Given the description of an element on the screen output the (x, y) to click on. 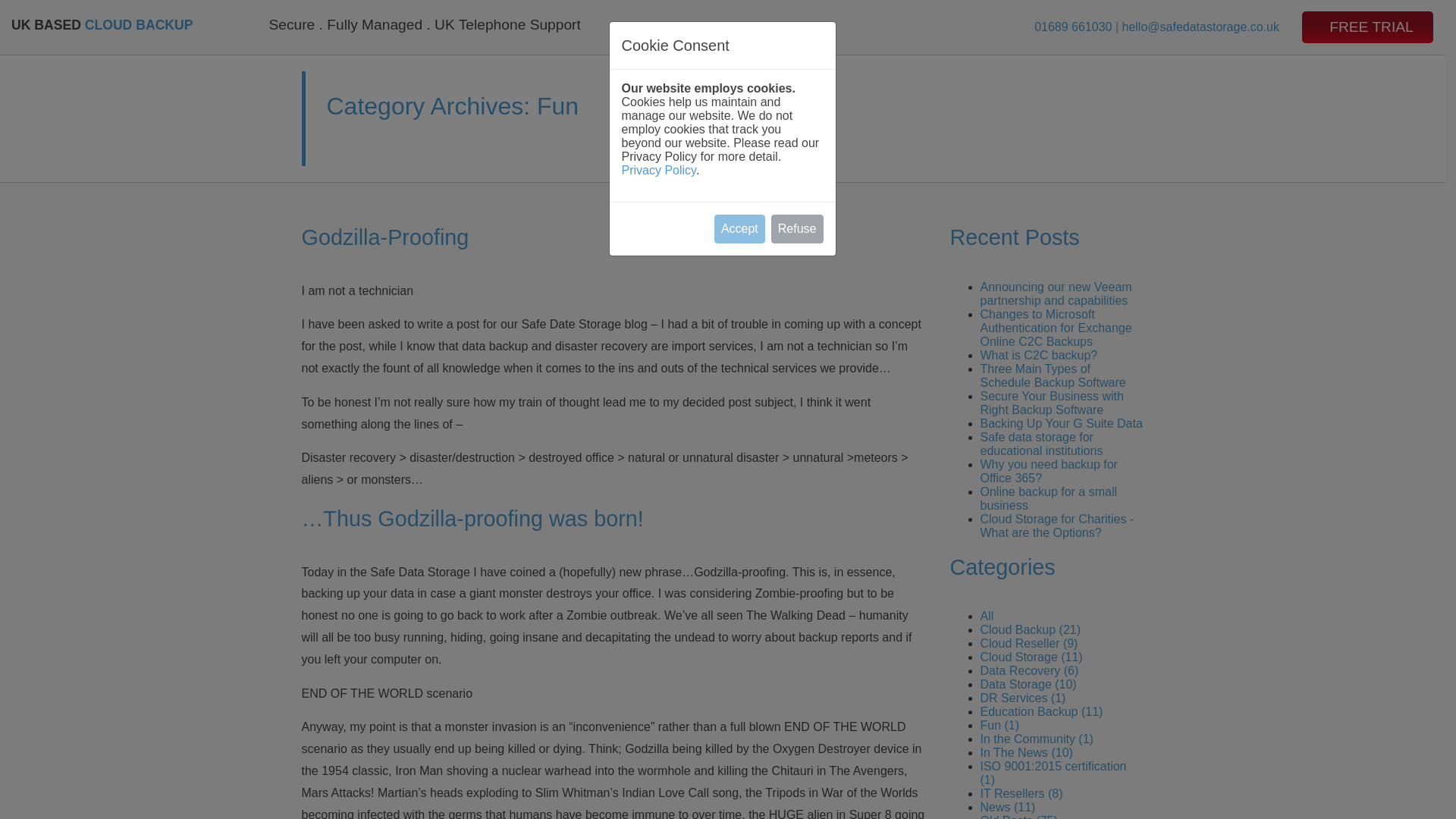
Why you need backup for Office 365? (1047, 470)
All (985, 615)
Accept (739, 228)
Online backup for a small business (1047, 498)
Backing Up Your G Suite Data (1060, 422)
Announcing our new Veeam partnership and capabilities (1055, 293)
What is C2C backup? (1038, 354)
All Blogs (985, 615)
Cloud Storage for Charities - What are the Options? (1056, 525)
